Given the description of an element on the screen output the (x, y) to click on. 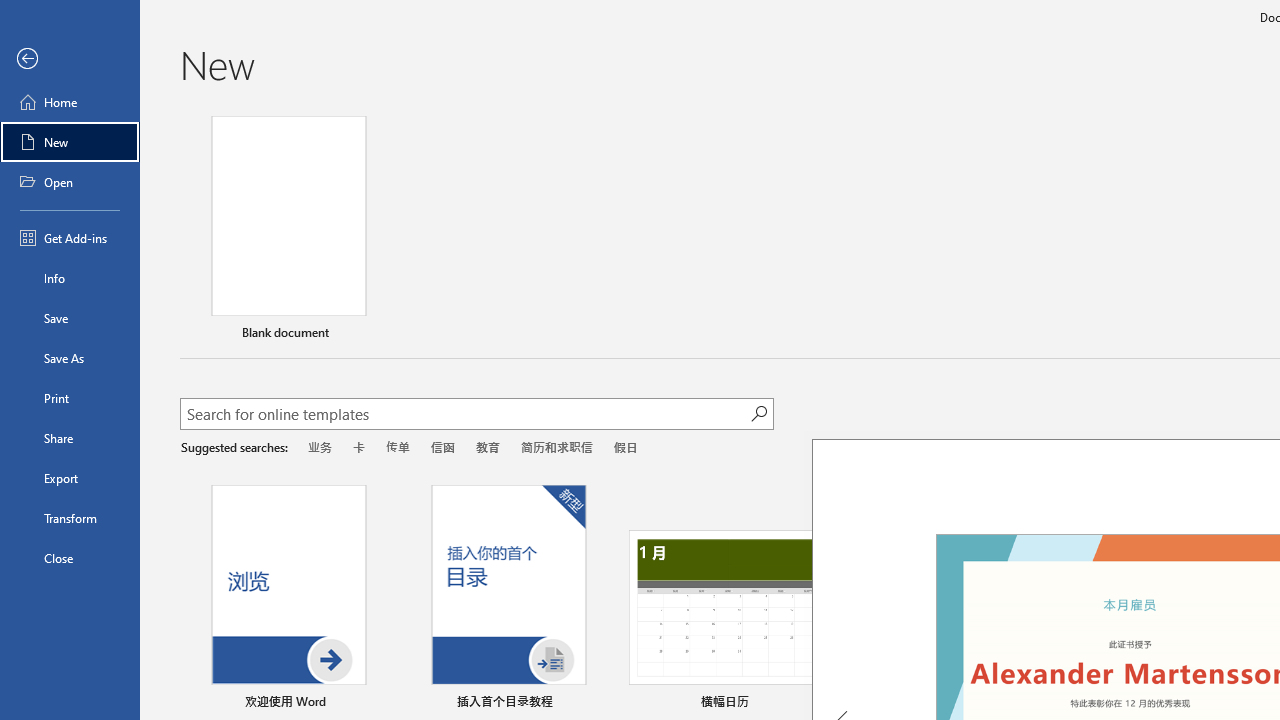
Get Add-ins (69, 237)
Start searching (758, 413)
Pin to list (1255, 703)
Print (69, 398)
Back (69, 59)
Search for online templates (465, 416)
Export (69, 477)
Info (69, 277)
Save As (69, 357)
